Given the description of an element on the screen output the (x, y) to click on. 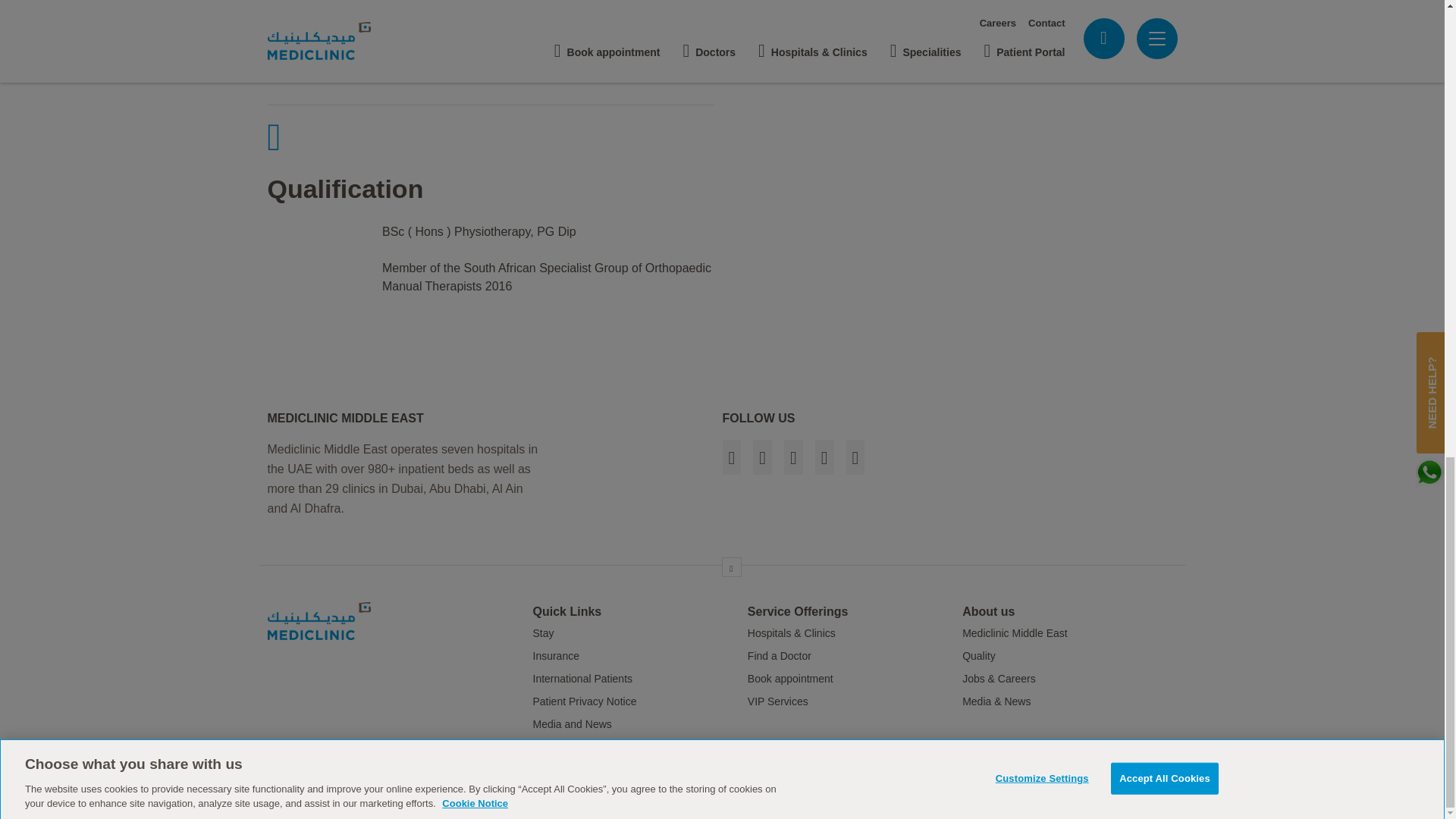
Scroll to Top (730, 566)
